Given the description of an element on the screen output the (x, y) to click on. 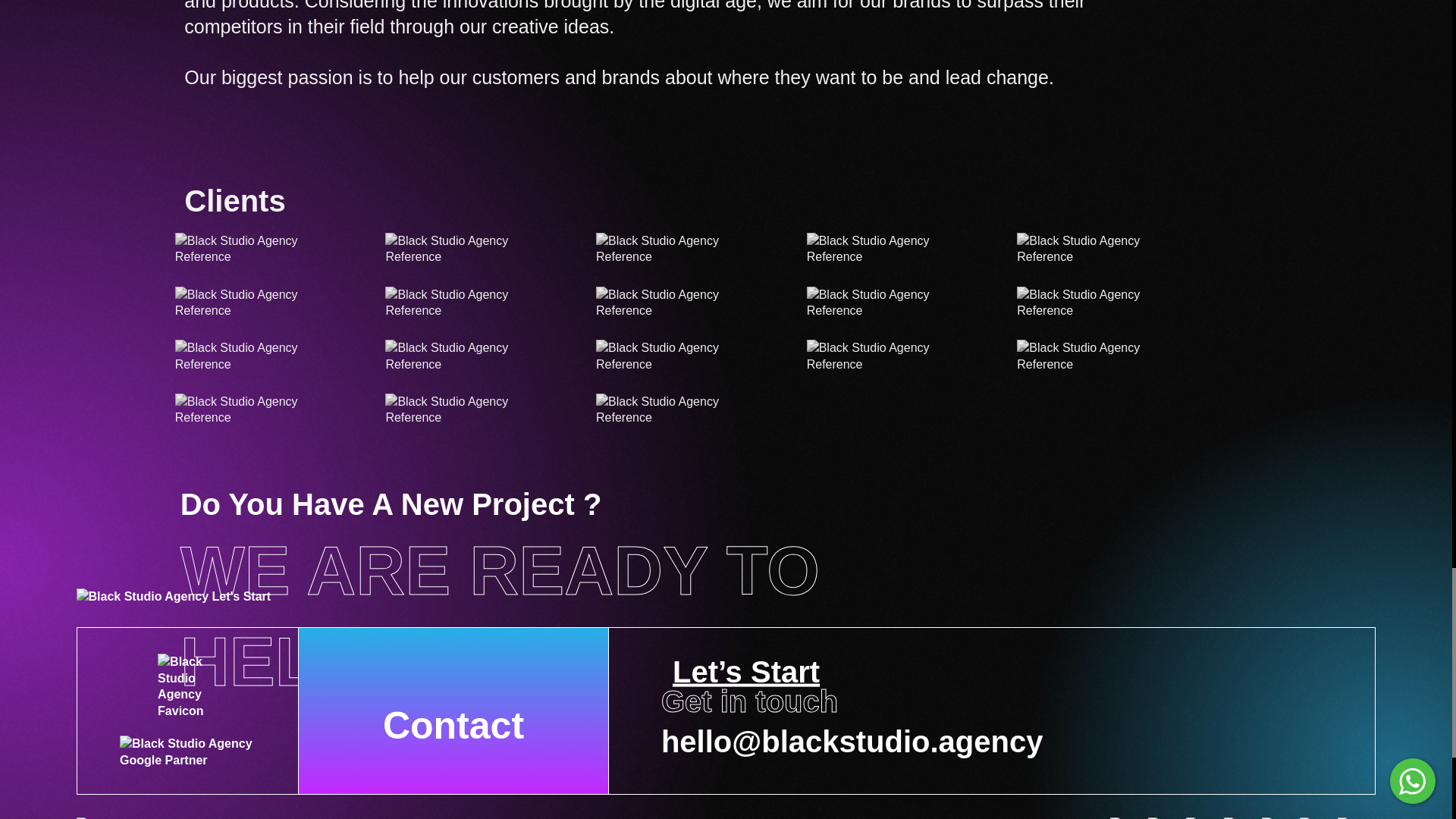
Contact (453, 710)
